Given the description of an element on the screen output the (x, y) to click on. 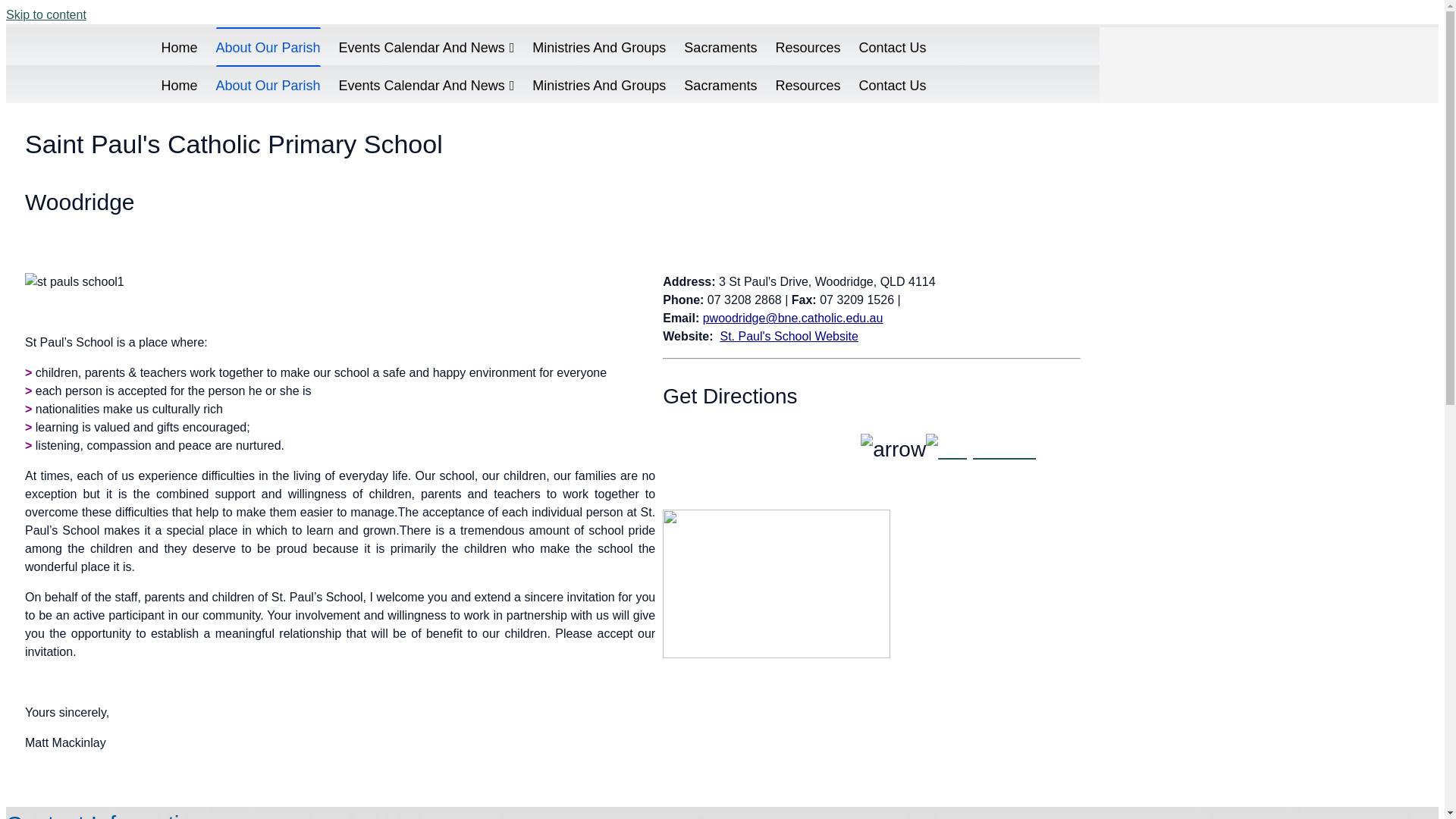
Events Calendar And News Element type: text (426, 46)
Sacraments Element type: text (720, 84)
Resources Element type: text (807, 46)
Contact Us Element type: text (891, 84)
Home Element type: text (178, 46)
pwoodridge@bne.catholic.edu.au Element type: text (792, 317)
Contact Us Element type: text (891, 46)
Home Element type: text (178, 84)
Events Calendar And News Element type: text (426, 84)
About Our Parish Element type: text (267, 84)
Skip to content Element type: text (46, 14)
About Our Parish Element type: text (267, 46)
Ministries And Groups Element type: text (598, 84)
st_pauls map Element type: hover (776, 583)
Resources Element type: text (807, 84)
Ministries And Groups Element type: text (598, 46)
St. Paul's School Website Element type: text (788, 335)
Sacraments Element type: text (720, 46)
